Given the description of an element on the screen output the (x, y) to click on. 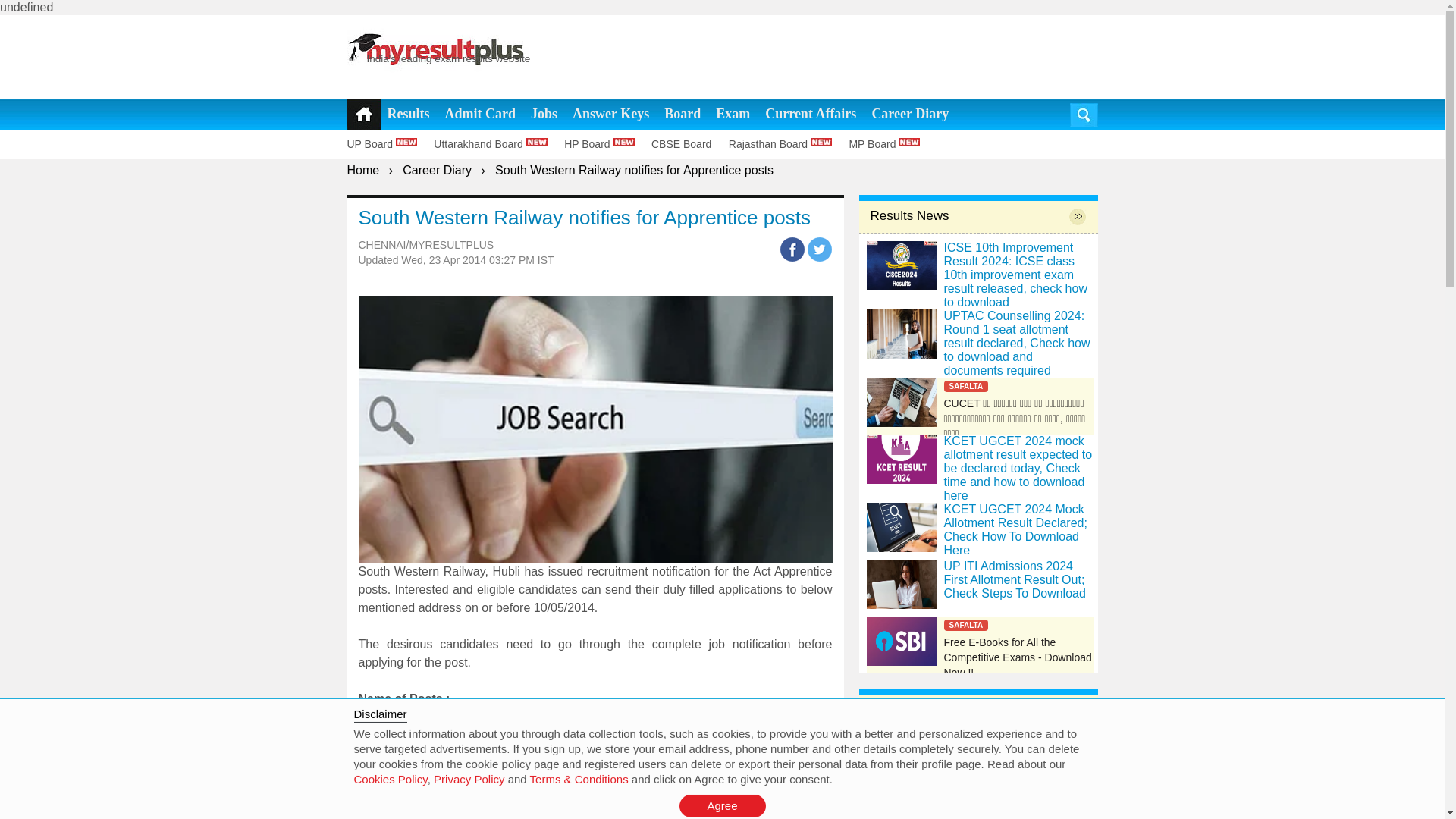
Exam (732, 113)
CBSE Board (687, 143)
MP Board (890, 143)
Career Diary (437, 170)
UP Board (388, 143)
Results (407, 113)
HP Board (605, 143)
Current Affairs (809, 113)
